Given the description of an element on the screen output the (x, y) to click on. 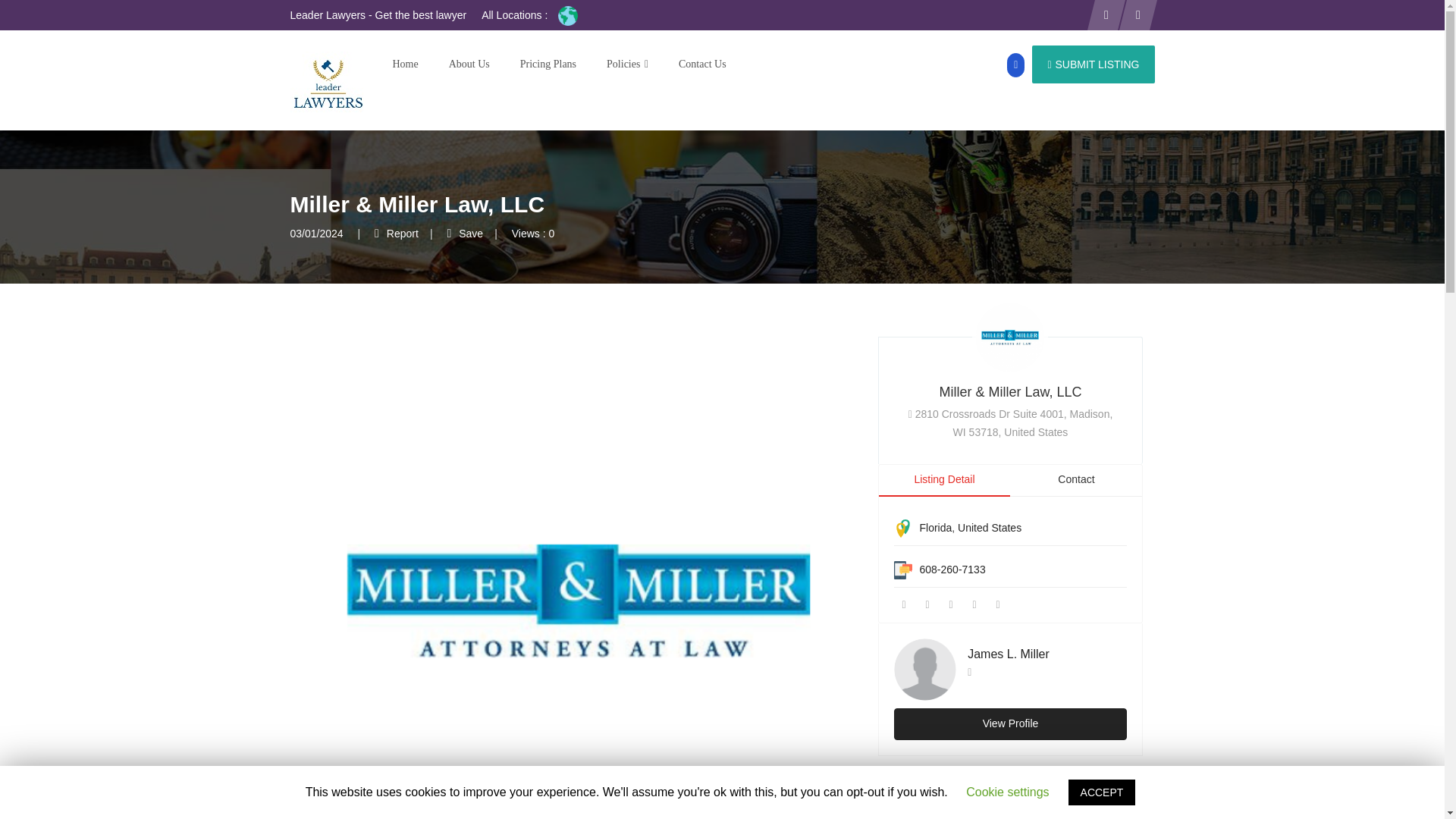
608-260-7133 (951, 569)
SUBMIT LISTING (1093, 64)
Contact Us (694, 64)
United States (990, 527)
Home (405, 64)
Report (396, 233)
Save (464, 233)
Florida (935, 527)
Views : 0 (533, 233)
Contact (1075, 480)
